Given the description of an element on the screen output the (x, y) to click on. 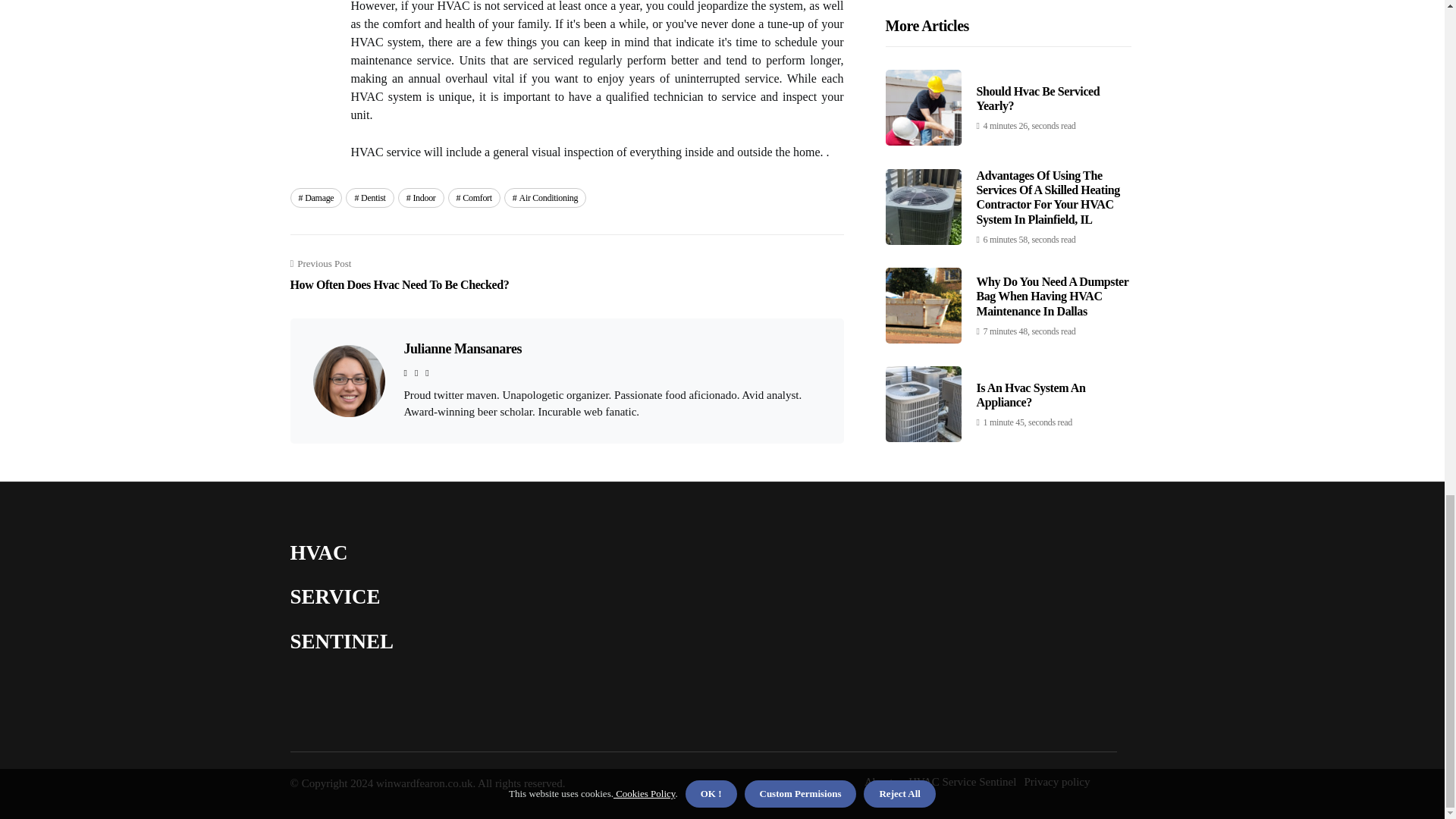
Indoor (398, 274)
Dentist (420, 198)
Julianne Mansanares (369, 198)
Damage (462, 348)
Comfort (315, 198)
Air Conditioning (474, 198)
